Given the description of an element on the screen output the (x, y) to click on. 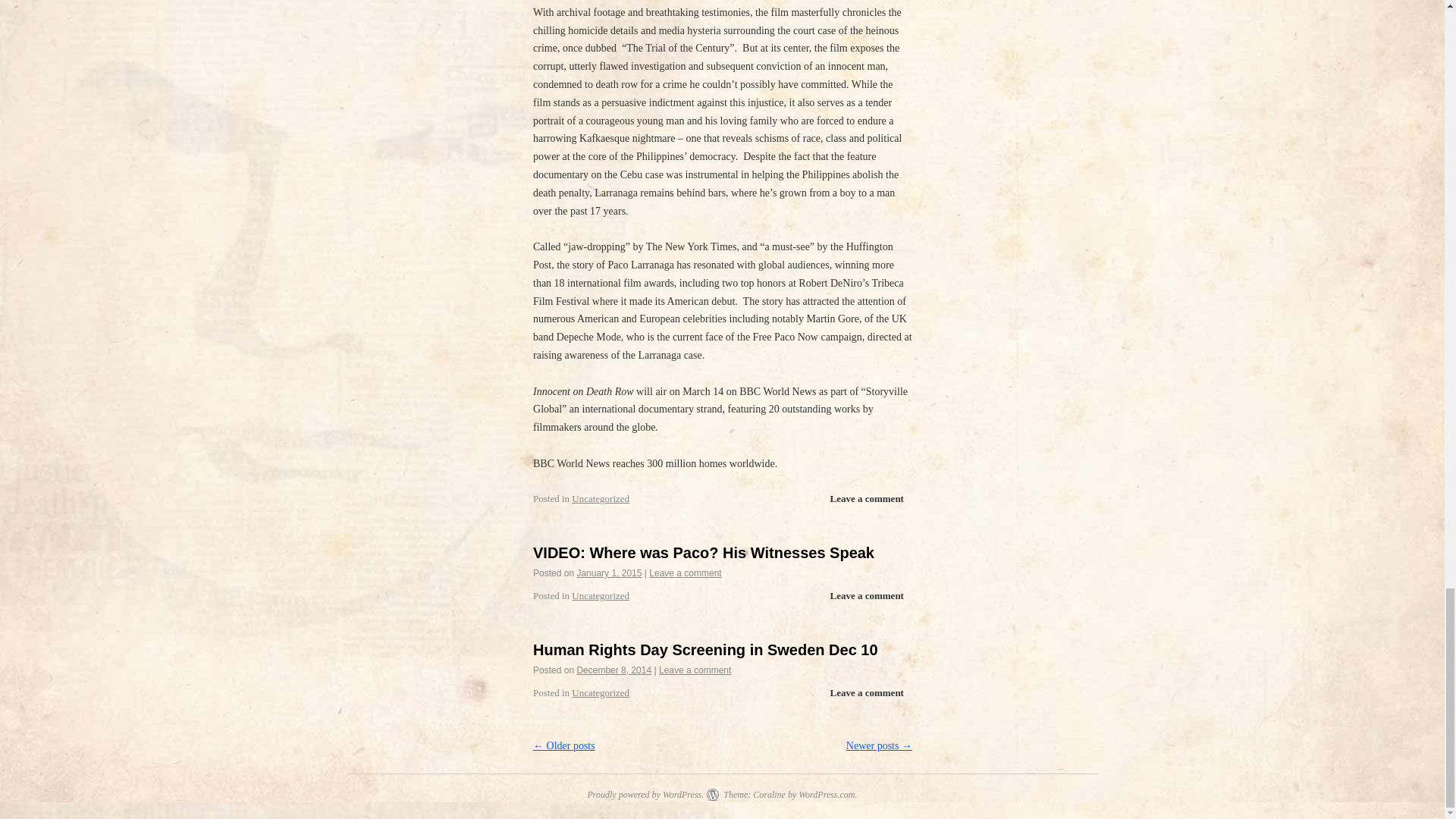
11:55 am (613, 670)
5:36 pm (609, 573)
